Given the description of an element on the screen output the (x, y) to click on. 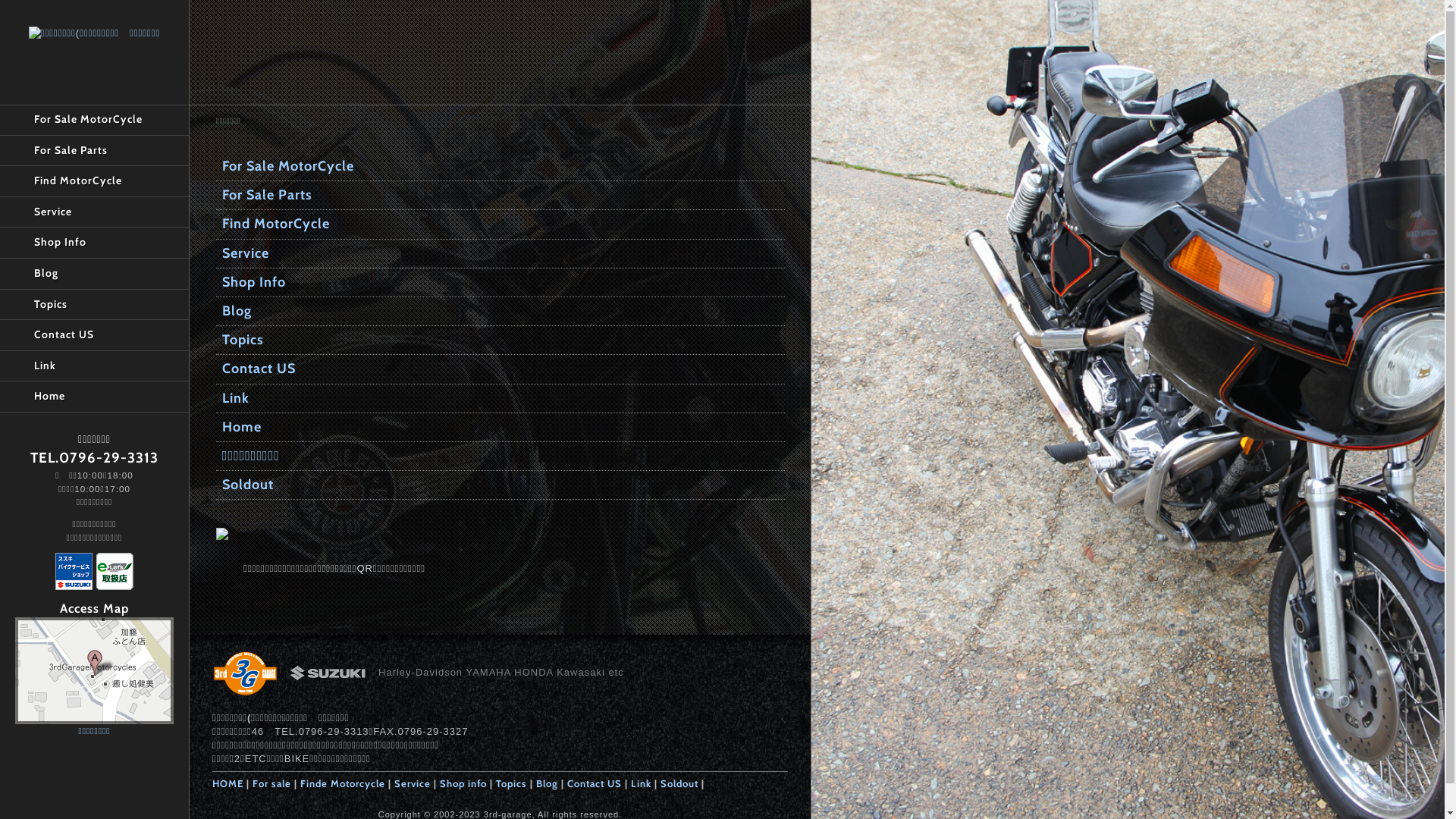
For Sale MotorCycle Element type: text (500, 166)
Link Element type: text (640, 783)
Shop info Element type: text (462, 783)
Find MotorCycle Element type: text (500, 224)
Blog Element type: text (94, 273)
Topics Element type: text (500, 340)
Link Element type: text (94, 366)
Service Element type: text (500, 253)
Contact US Element type: text (94, 335)
Service Element type: text (412, 783)
For sale Element type: text (271, 783)
Link Element type: text (500, 397)
Topics Element type: text (511, 783)
Contact US Element type: text (594, 783)
Blog Element type: text (500, 311)
For Sale Parts Element type: text (500, 195)
Contact US Element type: text (500, 368)
For Sale Parts Element type: text (94, 150)
Service Element type: text (94, 212)
HOME Element type: text (227, 783)
Shop Info Element type: text (94, 242)
For Sale MotorCycle Element type: text (94, 119)
Home Element type: text (94, 396)
Blog Element type: text (547, 783)
Find MotorCycle Element type: text (94, 181)
Topics Element type: text (94, 304)
Soldout Element type: text (679, 783)
Finde Motorcycle Element type: text (342, 783)
Soldout Element type: text (500, 484)
Home Element type: text (500, 427)
Shop Info Element type: text (500, 282)
